Given the description of an element on the screen output the (x, y) to click on. 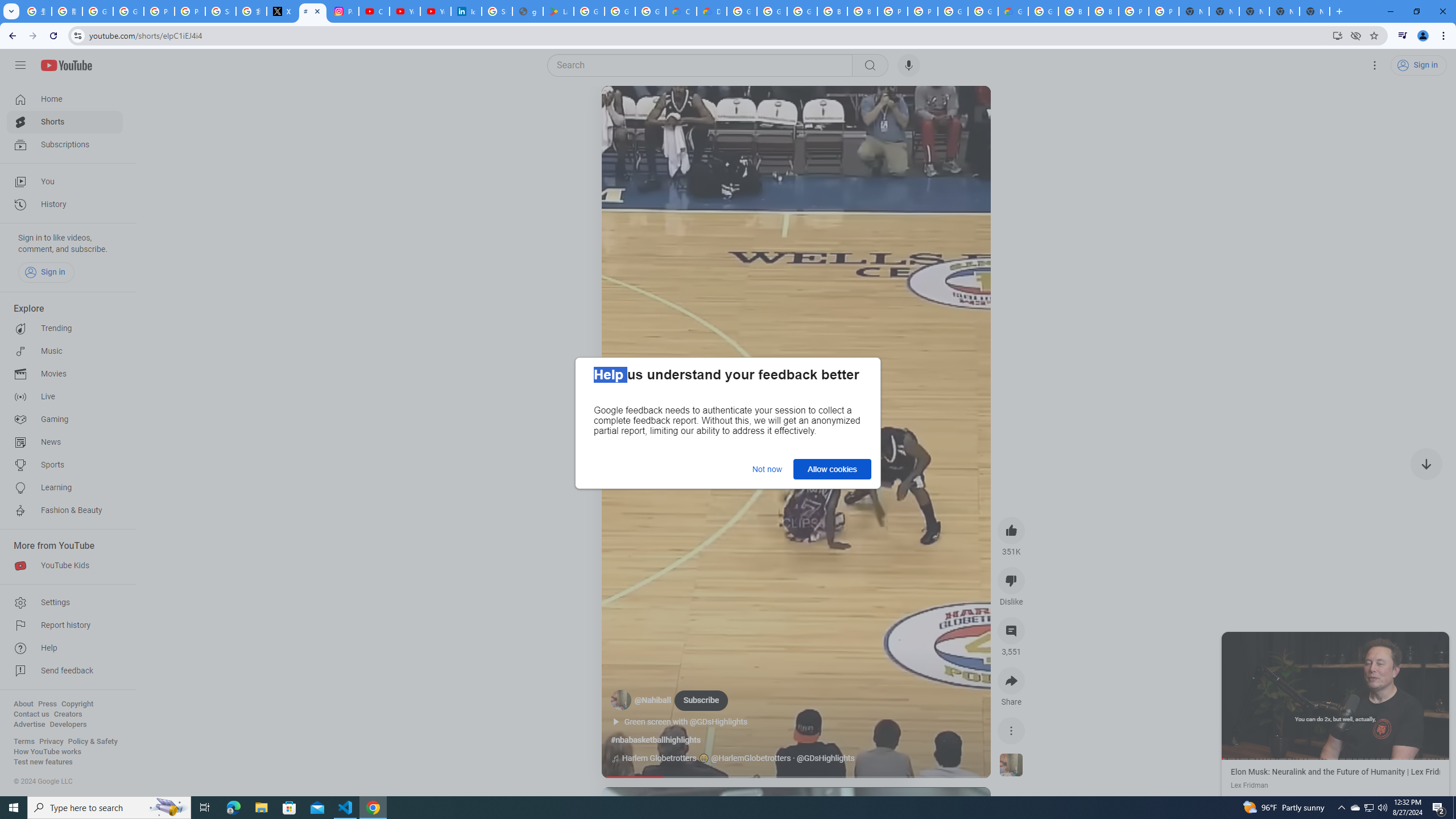
Dislike this video (1011, 580)
Green screen with @GDsHighlights (692, 722)
Subscriptions (64, 144)
News (64, 441)
Google Cloud Platform (952, 11)
Google Workspace - Specific Terms (650, 11)
